Given the description of an element on the screen output the (x, y) to click on. 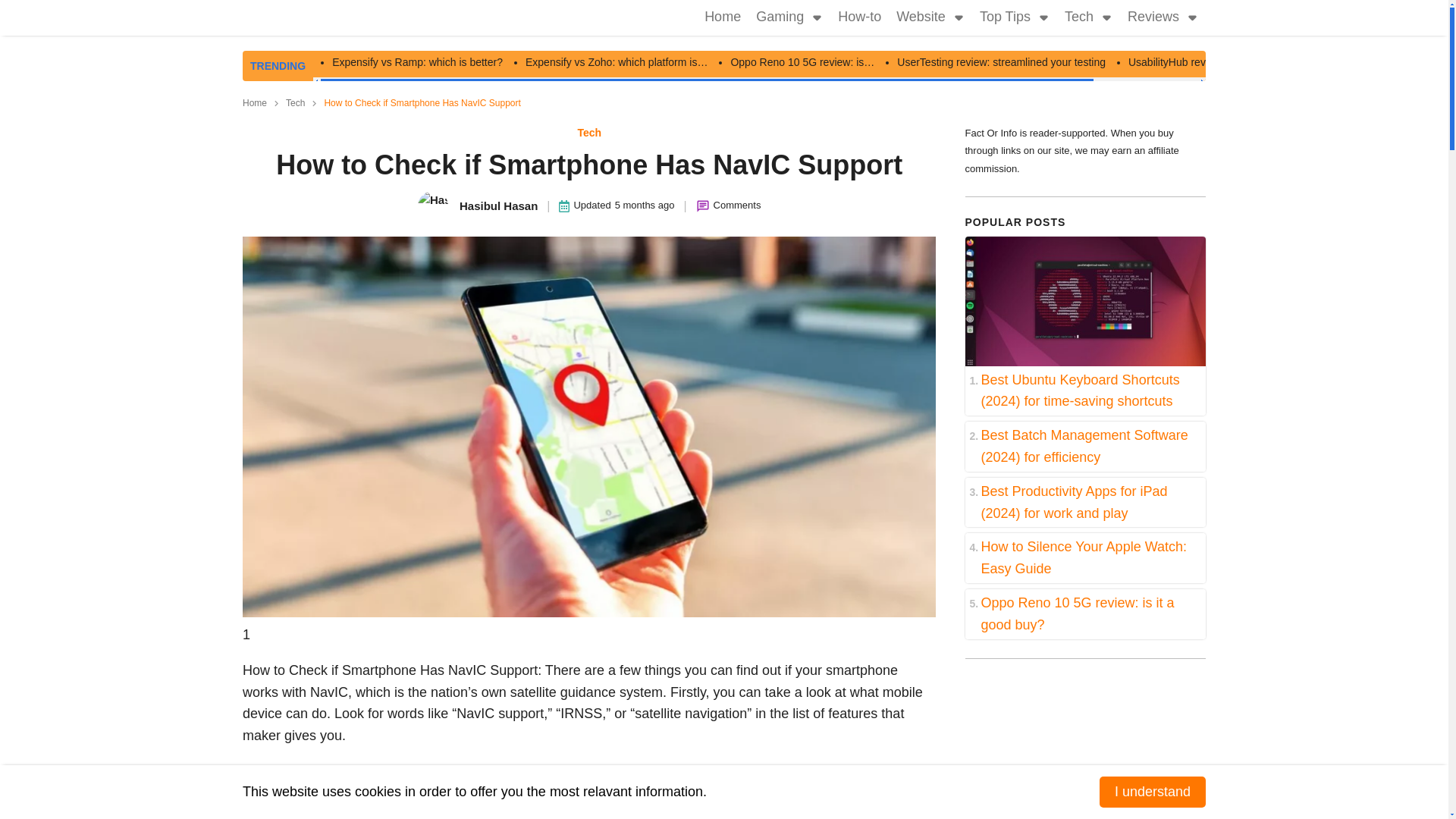
Tech (1075, 18)
Tech (588, 132)
How-to (858, 18)
Top Tips (1001, 18)
Website (916, 18)
Reviews (1149, 18)
Tech (294, 103)
Home (722, 18)
UserTesting review: streamlined your testing (1000, 61)
Hasibul Hasan (477, 205)
Expensify vs Ramp: which is better? (416, 61)
Comments (737, 205)
Home (254, 103)
Gaming (775, 18)
